Given the description of an element on the screen output the (x, y) to click on. 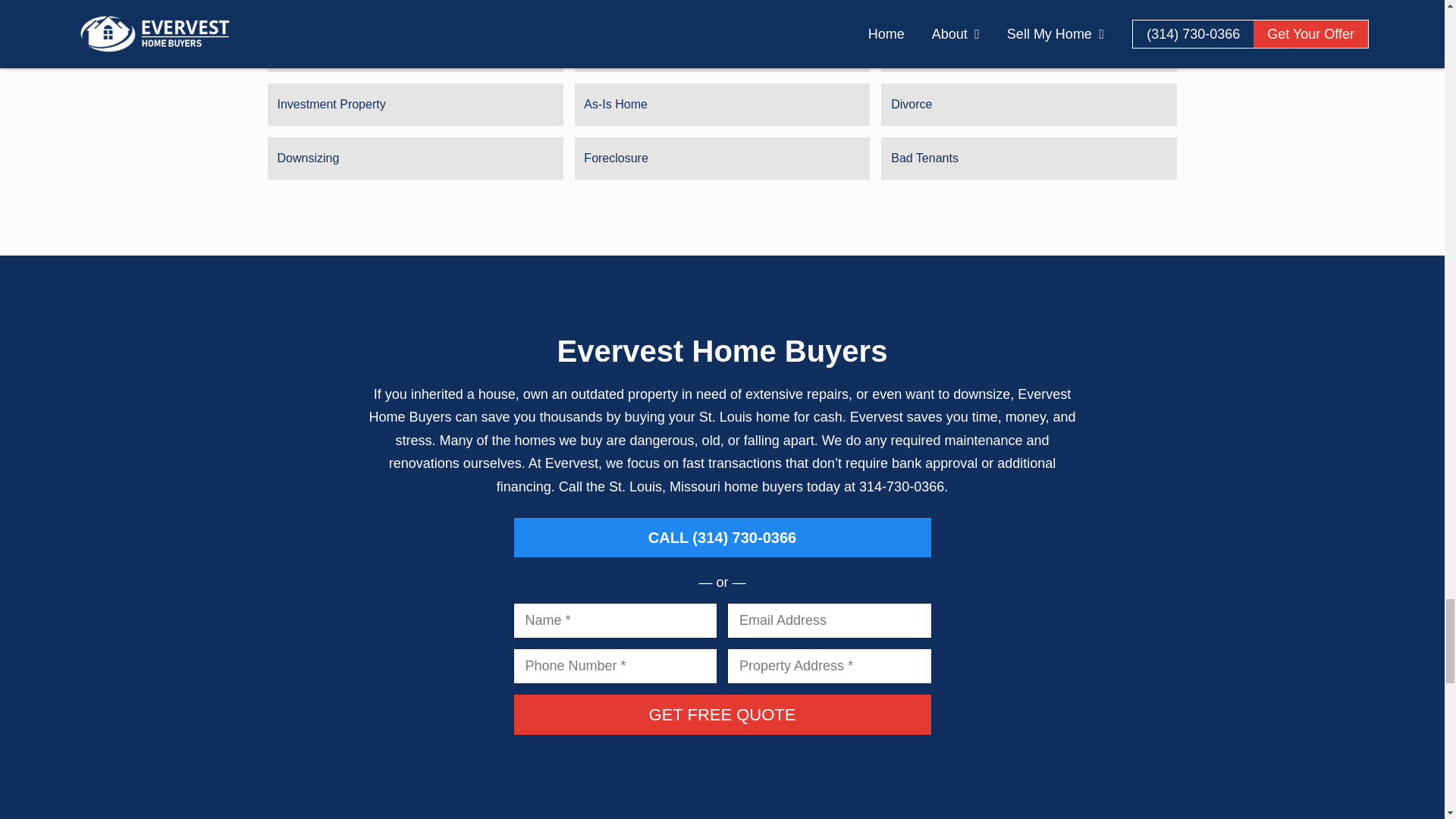
Get Free Quote (722, 714)
